Given the description of an element on the screen output the (x, y) to click on. 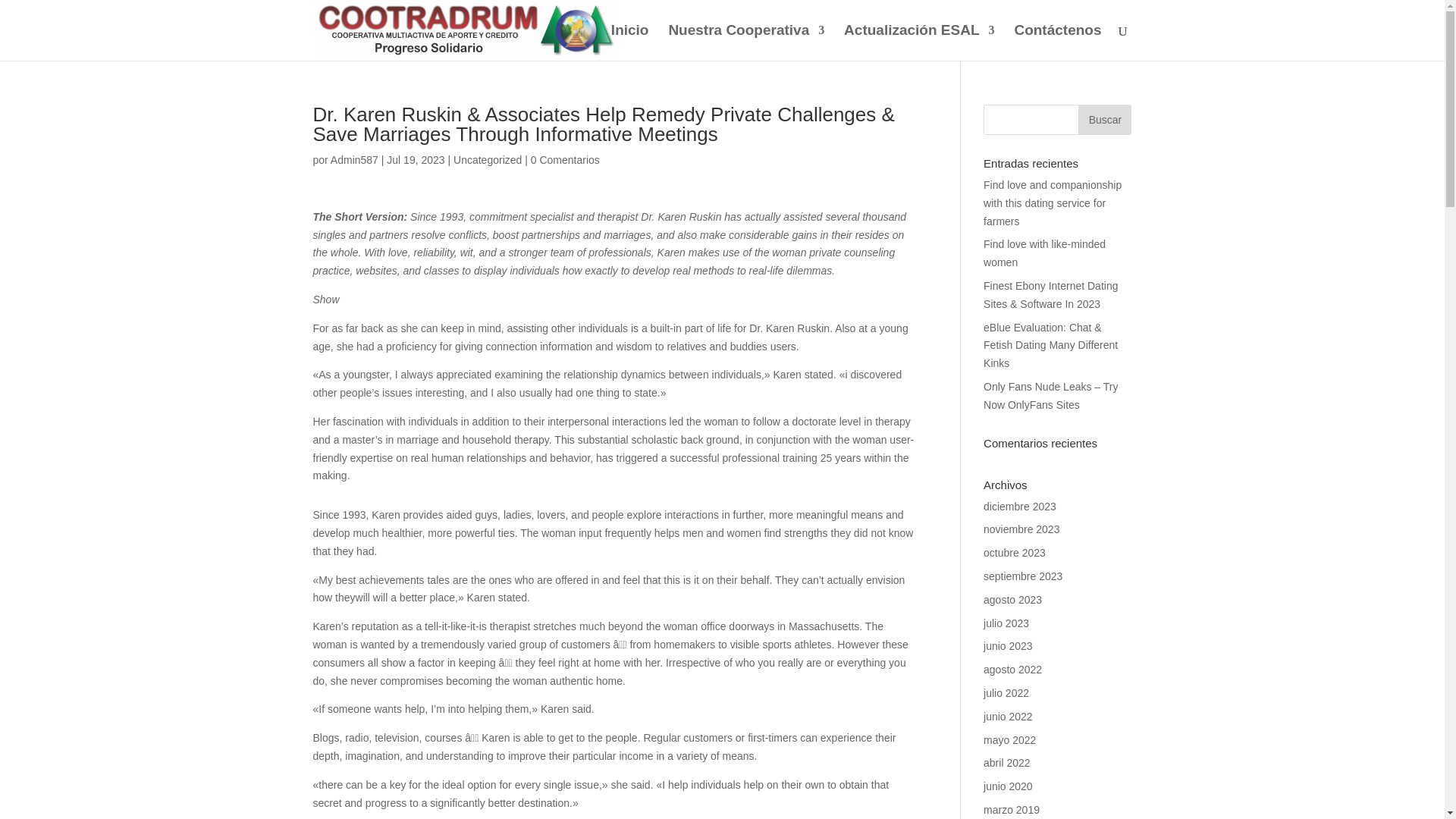
Inicio (630, 42)
Buscar (1104, 119)
Uncategorized (486, 159)
diciembre 2023 (1020, 506)
Find love with like-minded women (1044, 253)
Mensajes de Admin587 (354, 159)
Admin587 (354, 159)
0 Comentarios (565, 159)
Buscar (1104, 119)
Nuestra Cooperativa (746, 42)
